Given the description of an element on the screen output the (x, y) to click on. 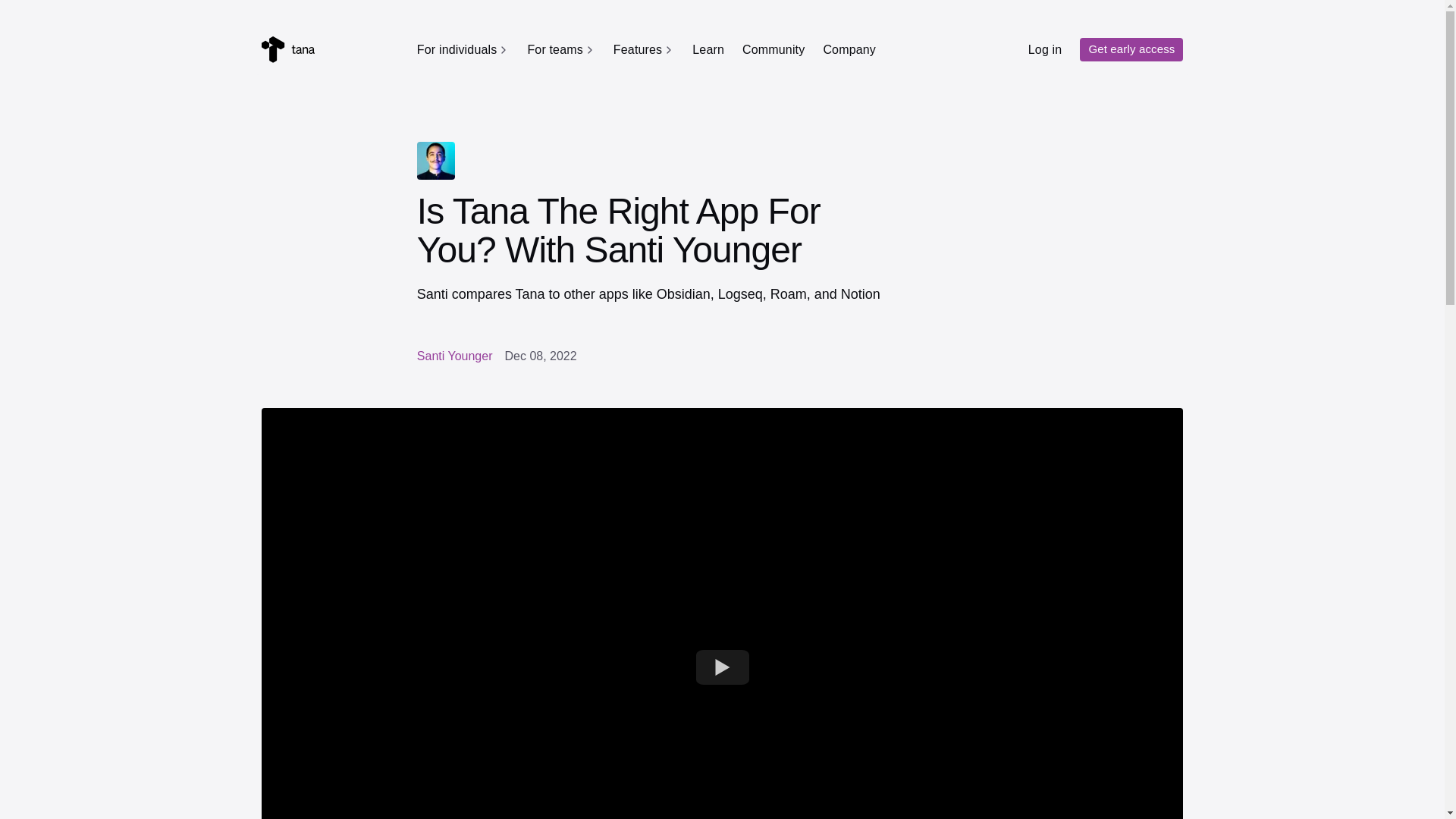
Log in (1044, 48)
For individuals (462, 49)
Get early access (1131, 49)
For teams (560, 49)
Company (849, 48)
Community (773, 48)
Learn (708, 48)
Features (643, 49)
Santi Younger (454, 355)
